Given the description of an element on the screen output the (x, y) to click on. 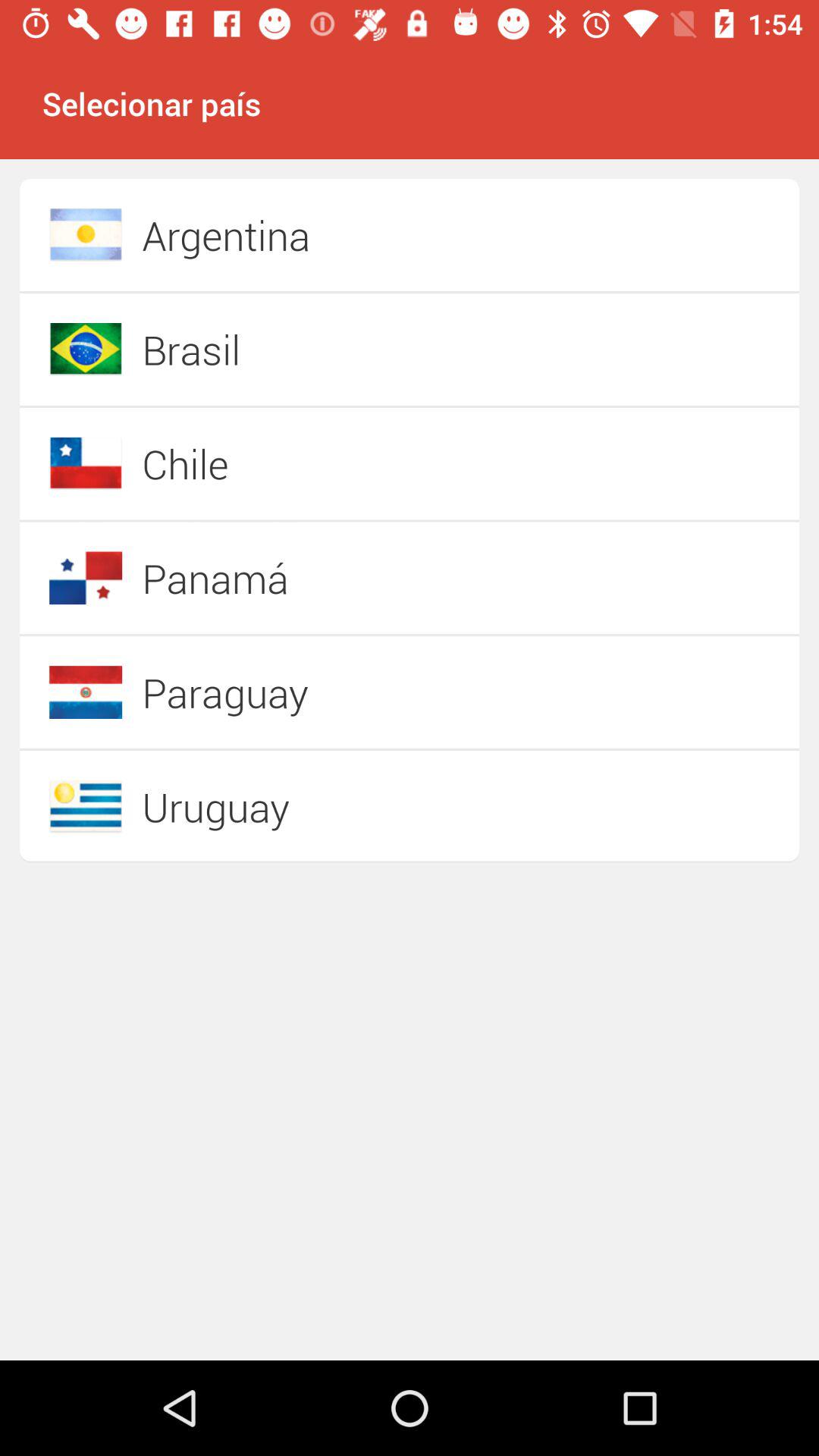
launch paraguay item (356, 692)
